Given the description of an element on the screen output the (x, y) to click on. 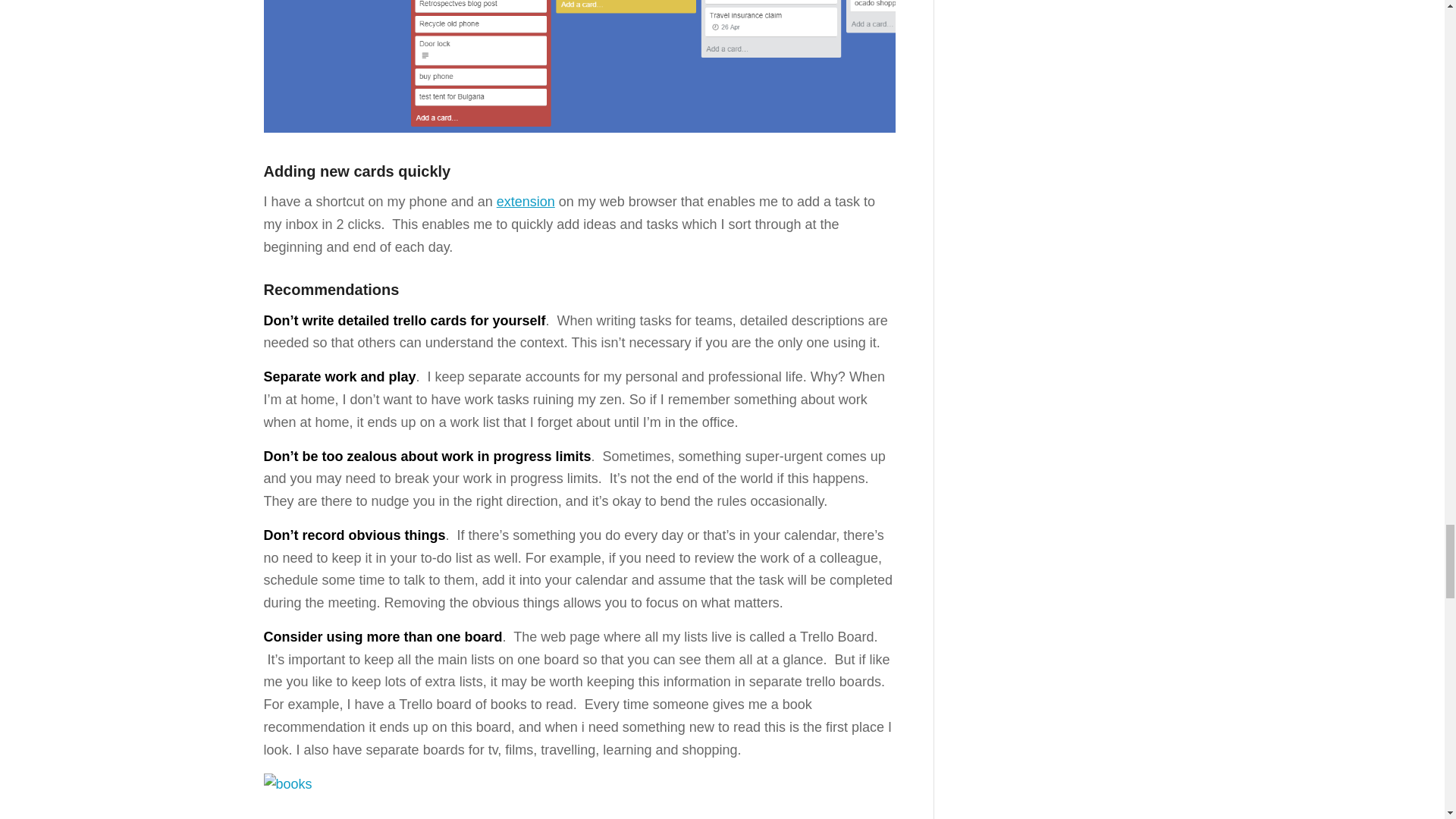
extension (525, 201)
